Given the description of an element on the screen output the (x, y) to click on. 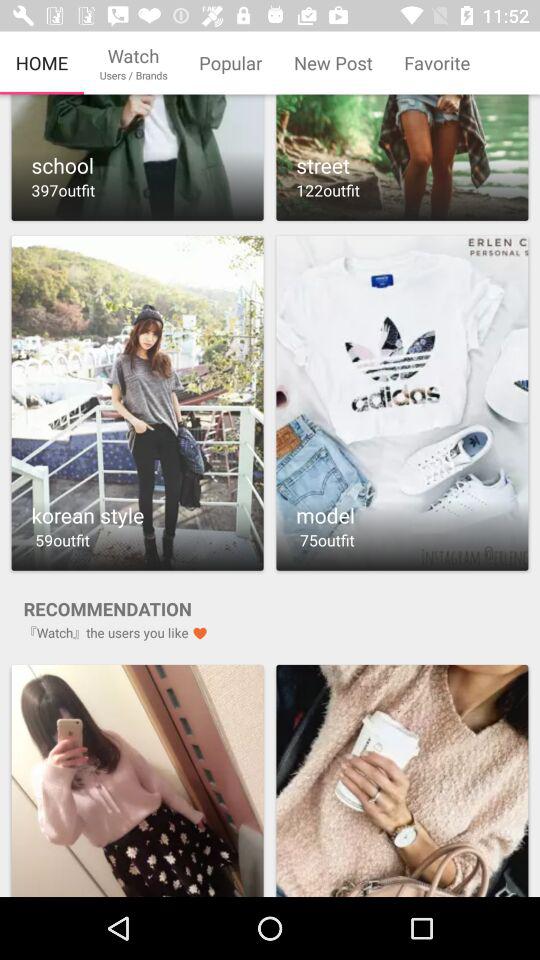
open option (402, 402)
